Given the description of an element on the screen output the (x, y) to click on. 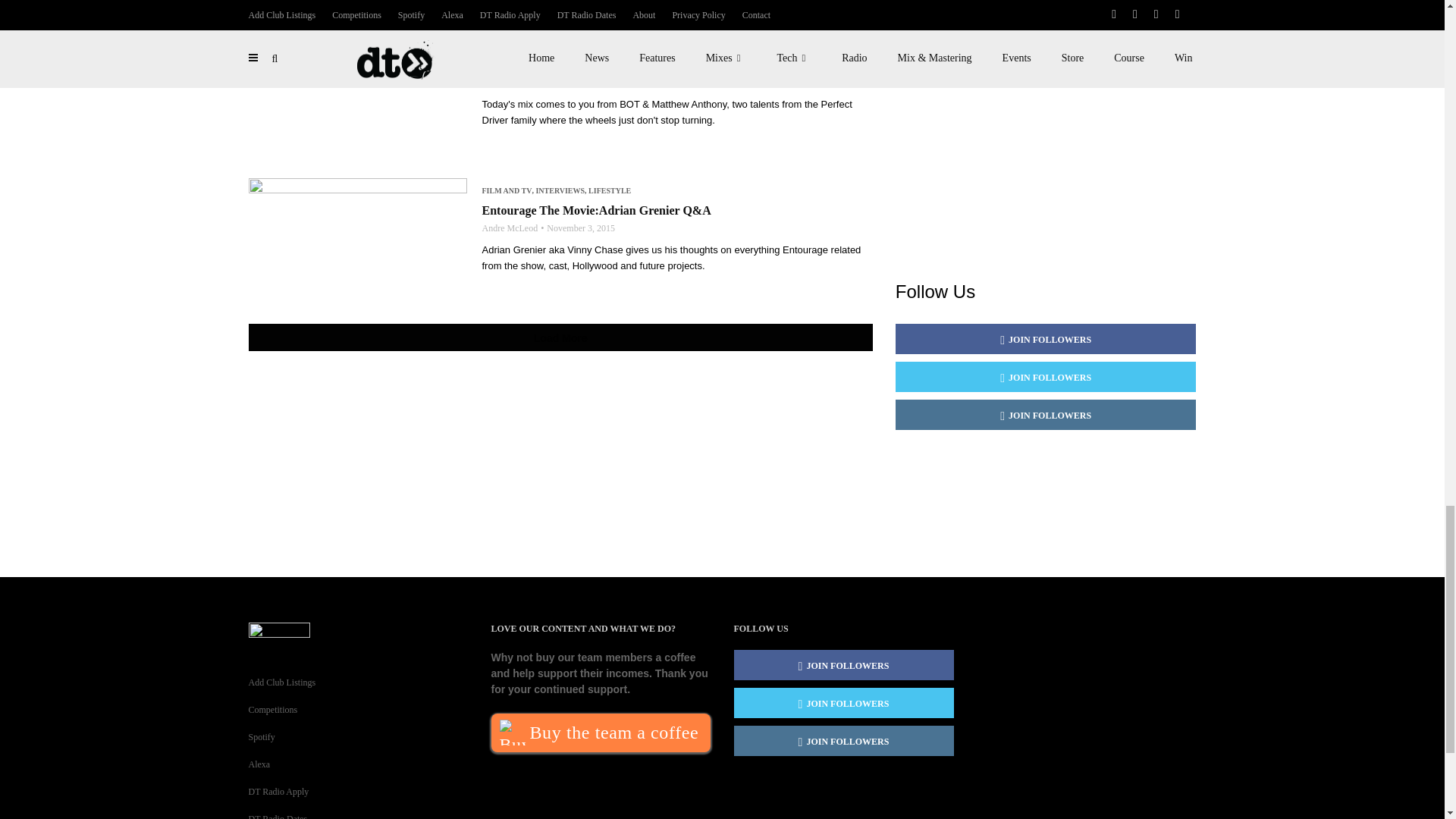
Load More (560, 337)
